Given the description of an element on the screen output the (x, y) to click on. 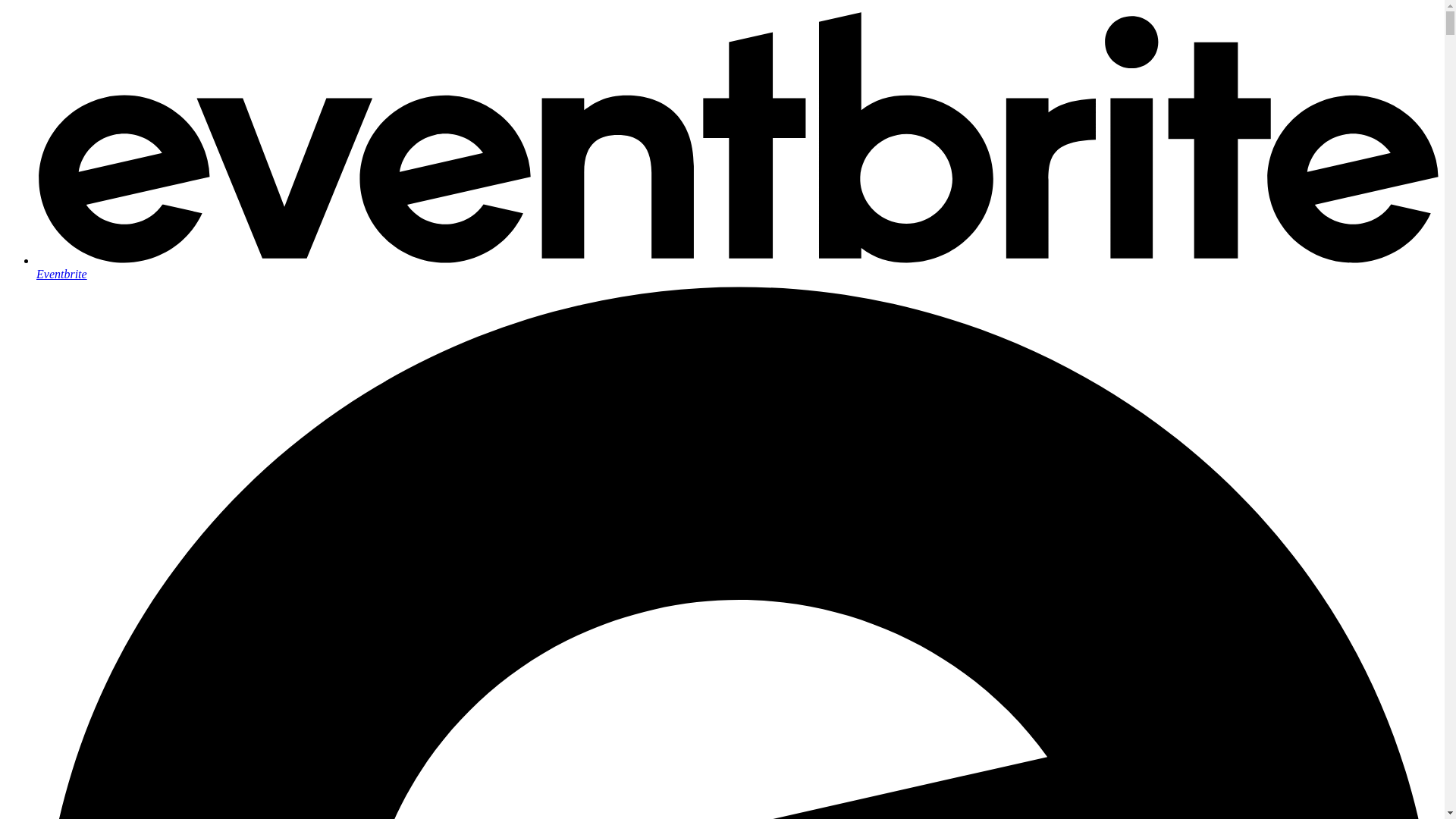
Eventbrite Element type: text (737, 267)
